Given the description of an element on the screen output the (x, y) to click on. 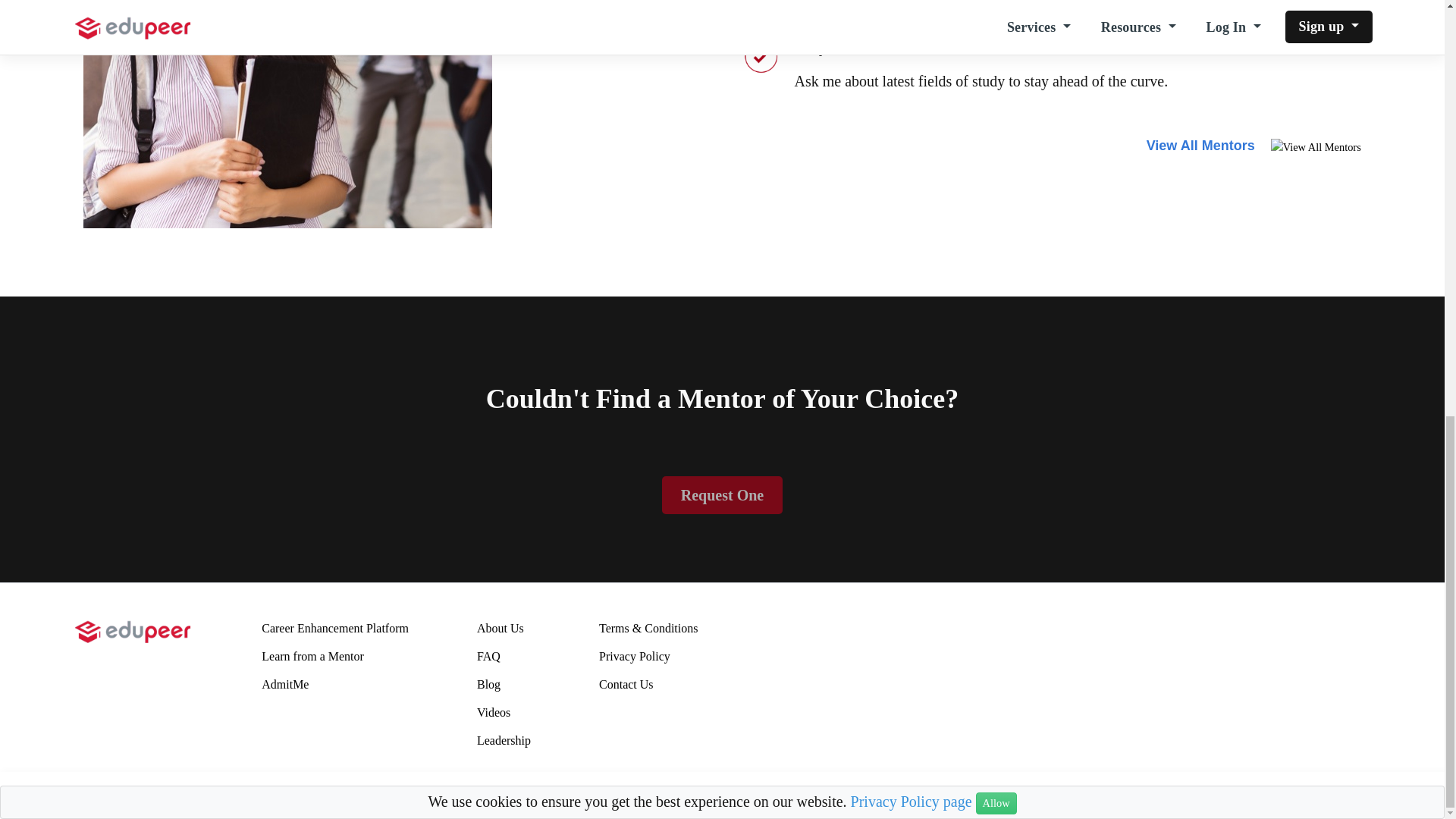
Career Enhancement Platform (335, 633)
View All Mentors (1203, 145)
Career Enhancement Platform (335, 627)
Request One (722, 494)
